Given the description of an element on the screen output the (x, y) to click on. 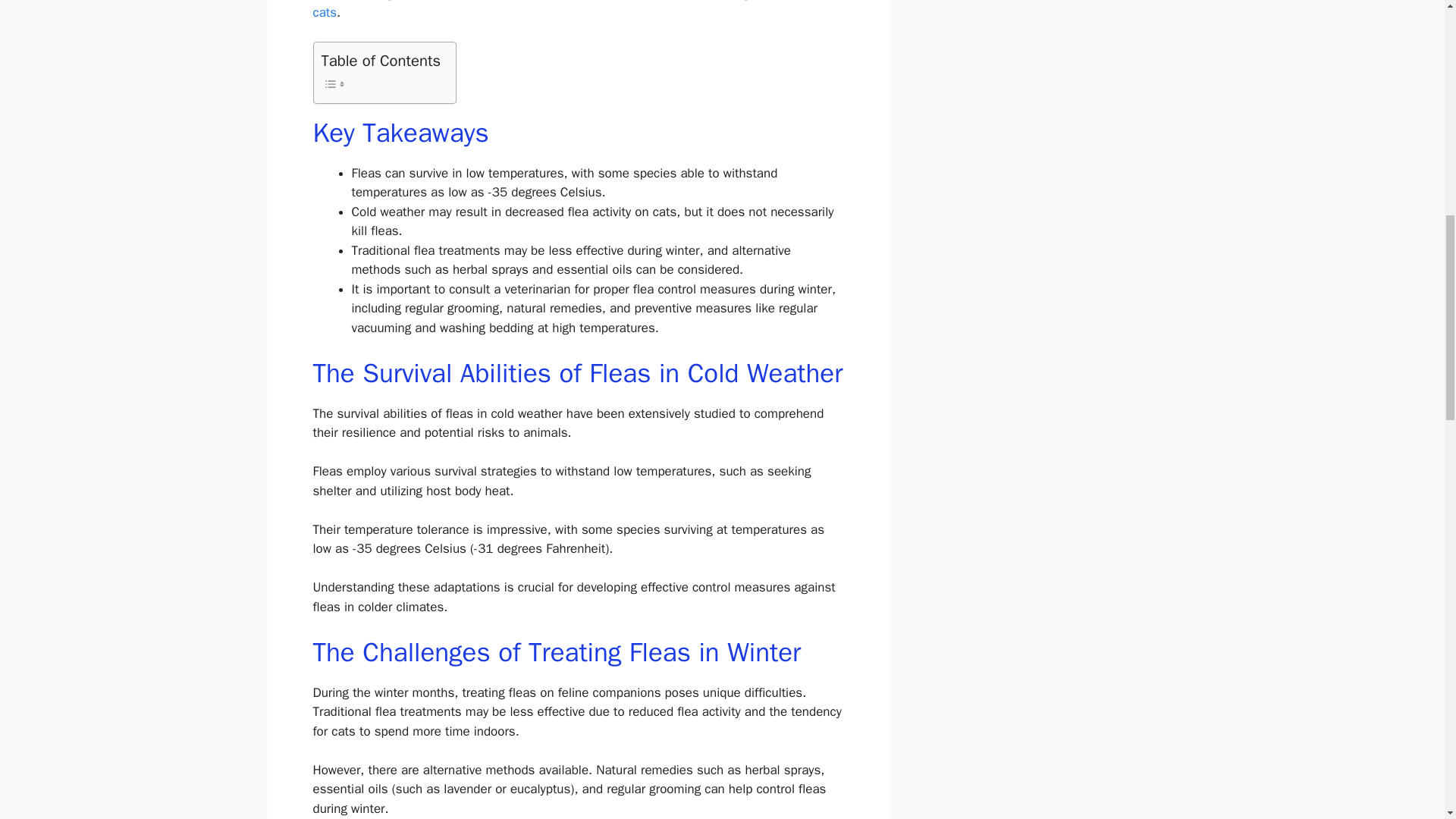
cats (324, 12)
cats (324, 12)
